Given the description of an element on the screen output the (x, y) to click on. 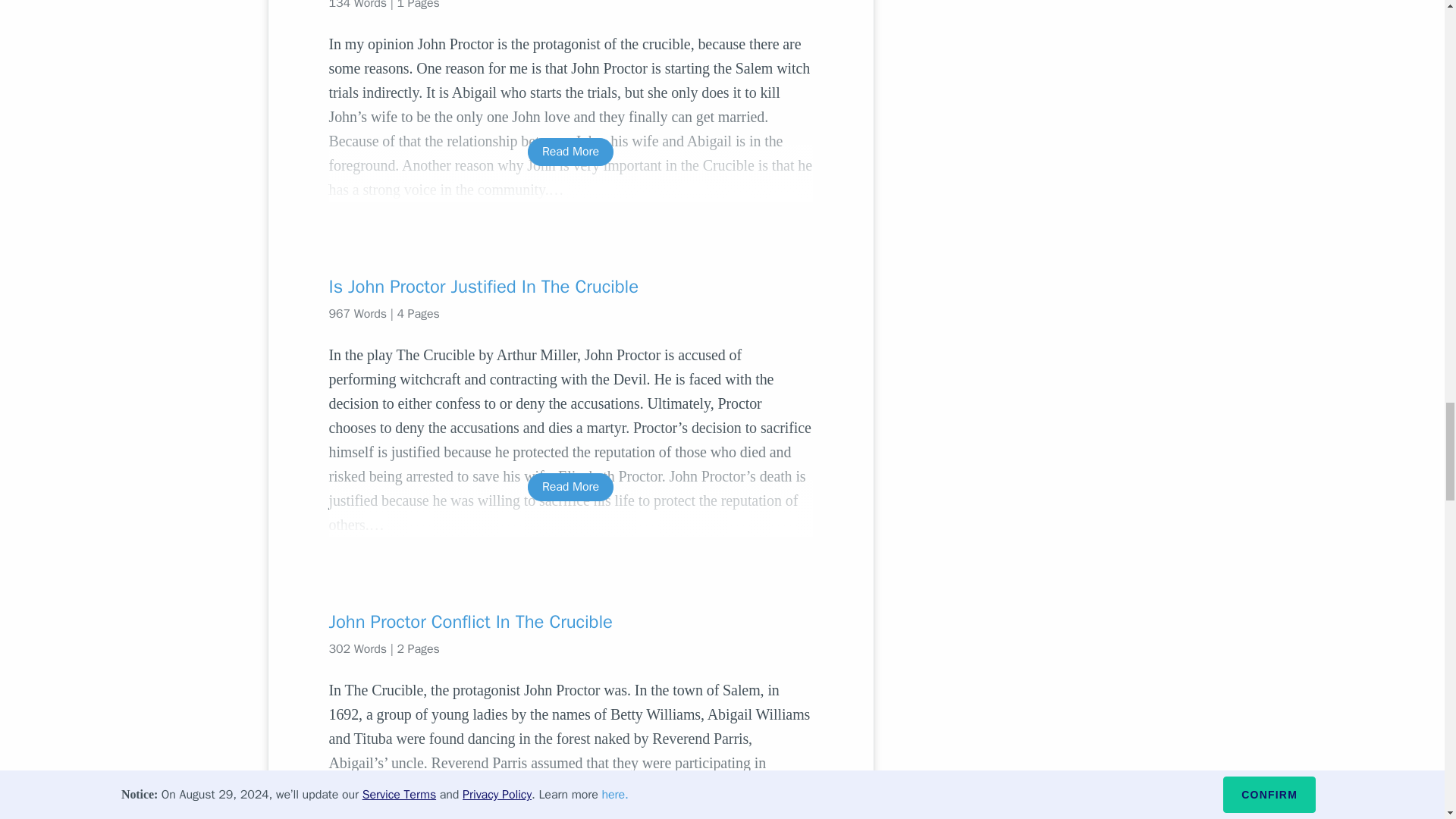
Read More (569, 797)
Read More (569, 152)
Is John Proctor Justified In The Crucible (570, 286)
Read More (569, 487)
John Proctor Conflict In The Crucible (570, 621)
